Given the description of an element on the screen output the (x, y) to click on. 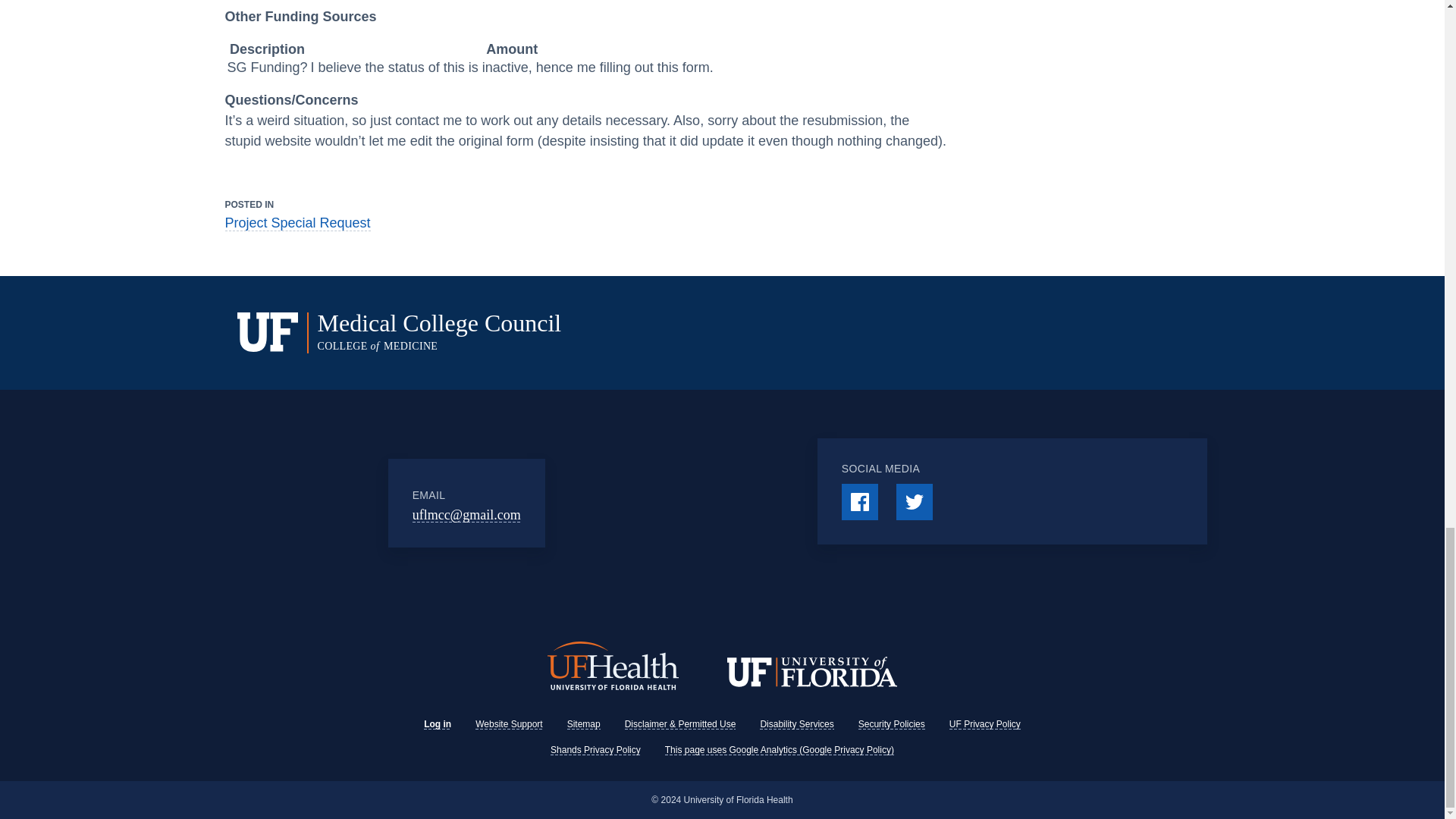
Security Policies (891, 724)
Shands Privacy Policy (595, 749)
Twitter (914, 502)
Sitemap (583, 724)
Log in (437, 724)
UF Privacy Policy (984, 724)
University of Florida Health - Home (612, 667)
Website Support (509, 724)
Disability Services (796, 724)
Log in (437, 724)
